Given the description of an element on the screen output the (x, y) to click on. 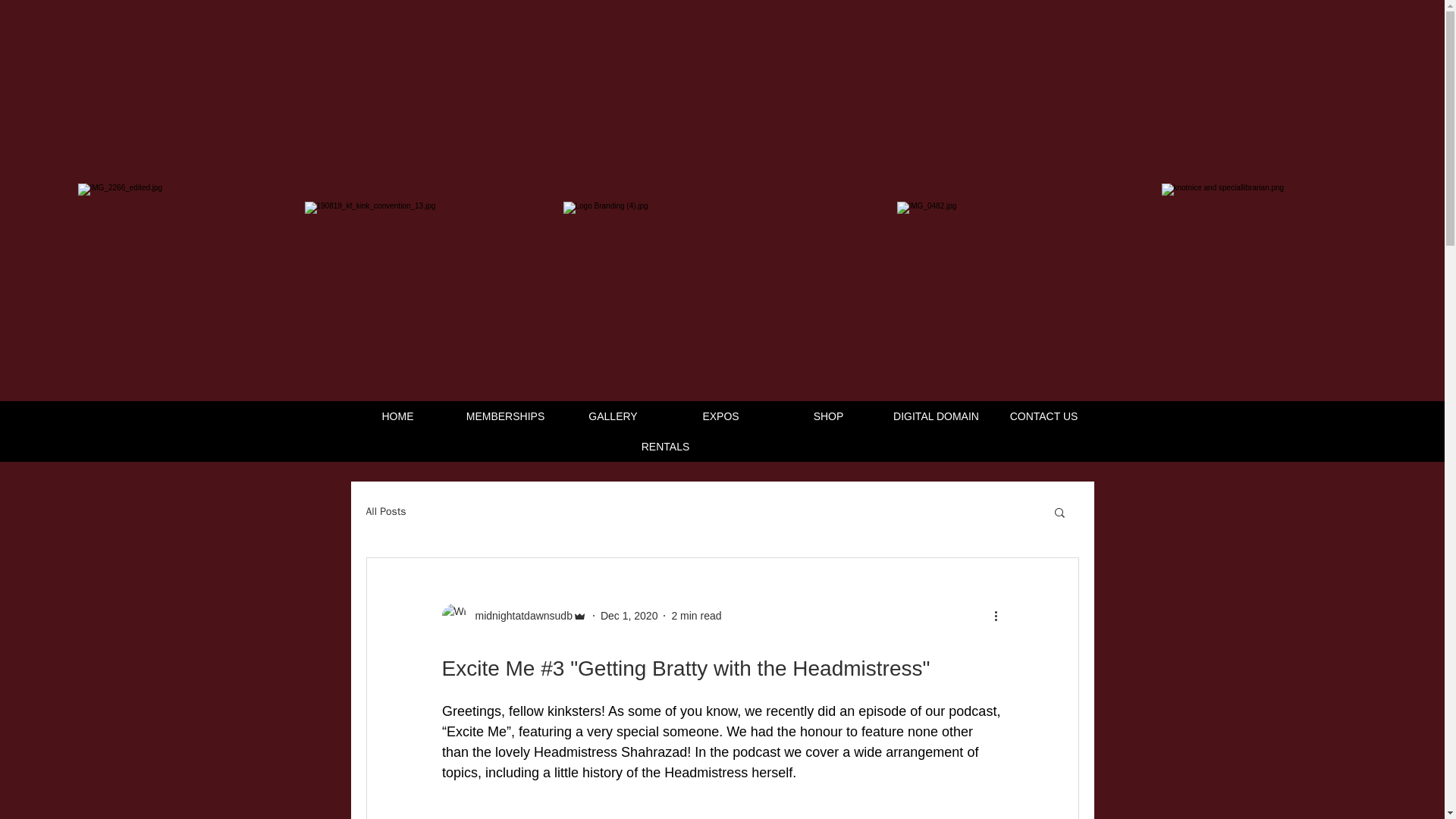
CONTACT US (1045, 416)
EXPOS (722, 416)
HOME (399, 416)
DIGITAL DOMAIN (937, 416)
midnightatdawnsudb (513, 615)
All Posts (385, 511)
2 min read (695, 615)
SHOP (829, 416)
Dec 1, 2020 (628, 615)
midnightatdawnsudb (518, 616)
MEMBERSHIPS (506, 416)
RENTALS (666, 446)
GALLERY (614, 416)
